Given the description of an element on the screen output the (x, y) to click on. 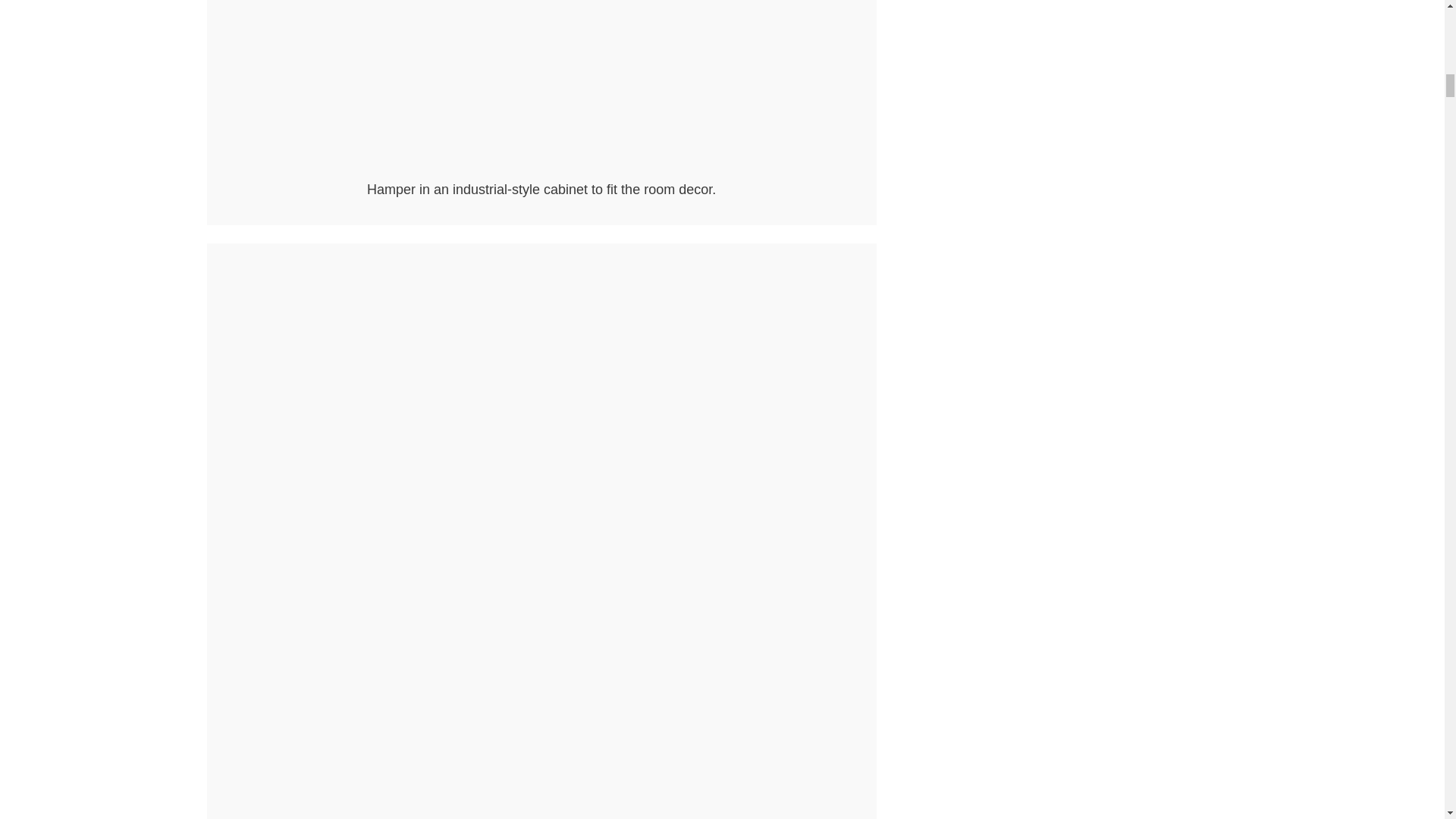
hamper in an industrial style cabinet to fit the room decor (541, 169)
hamper in an industrial style cabinet to fit the room decor (541, 87)
